Given the description of an element on the screen output the (x, y) to click on. 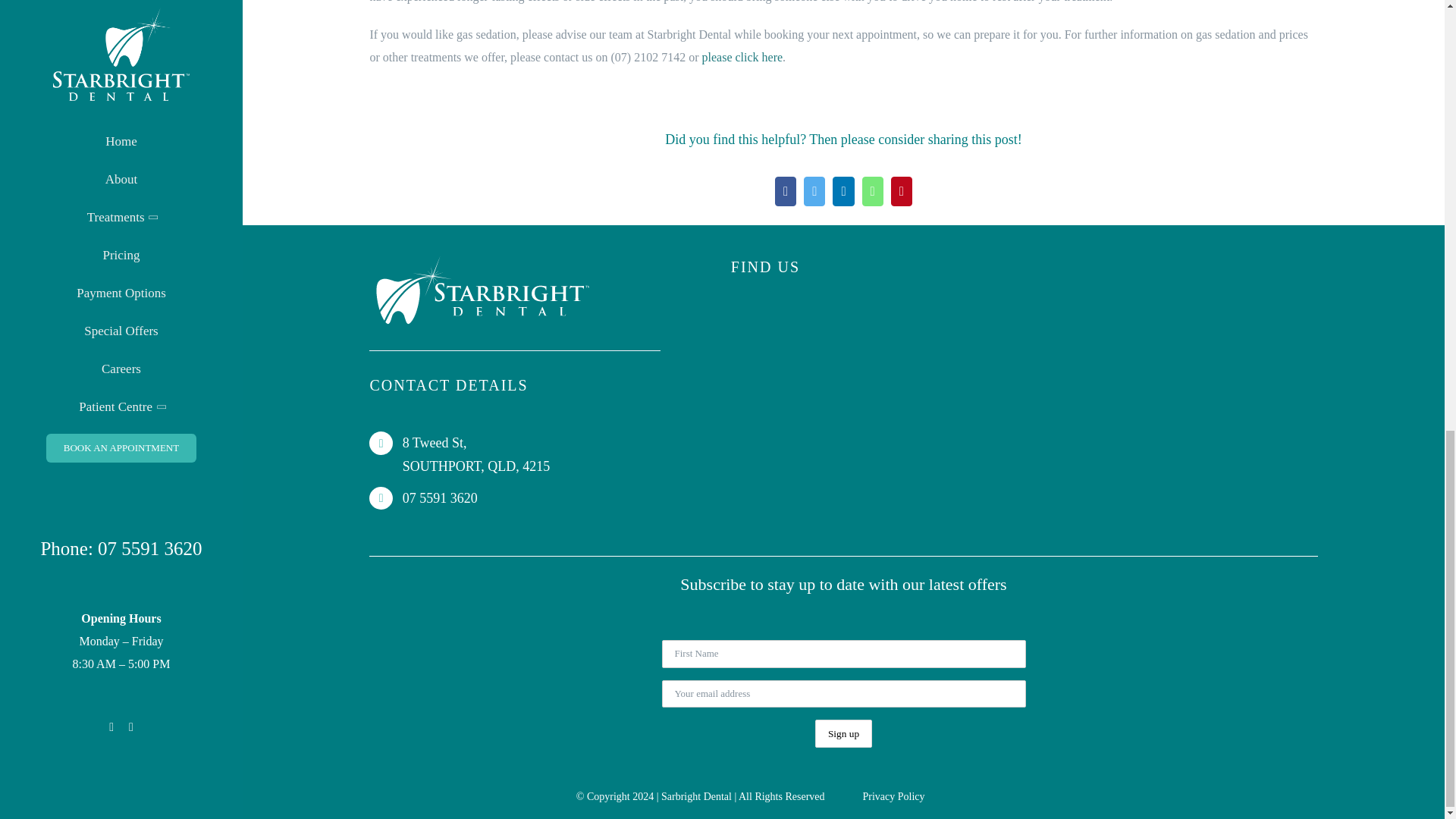
Sign up (843, 733)
